Given the description of an element on the screen output the (x, y) to click on. 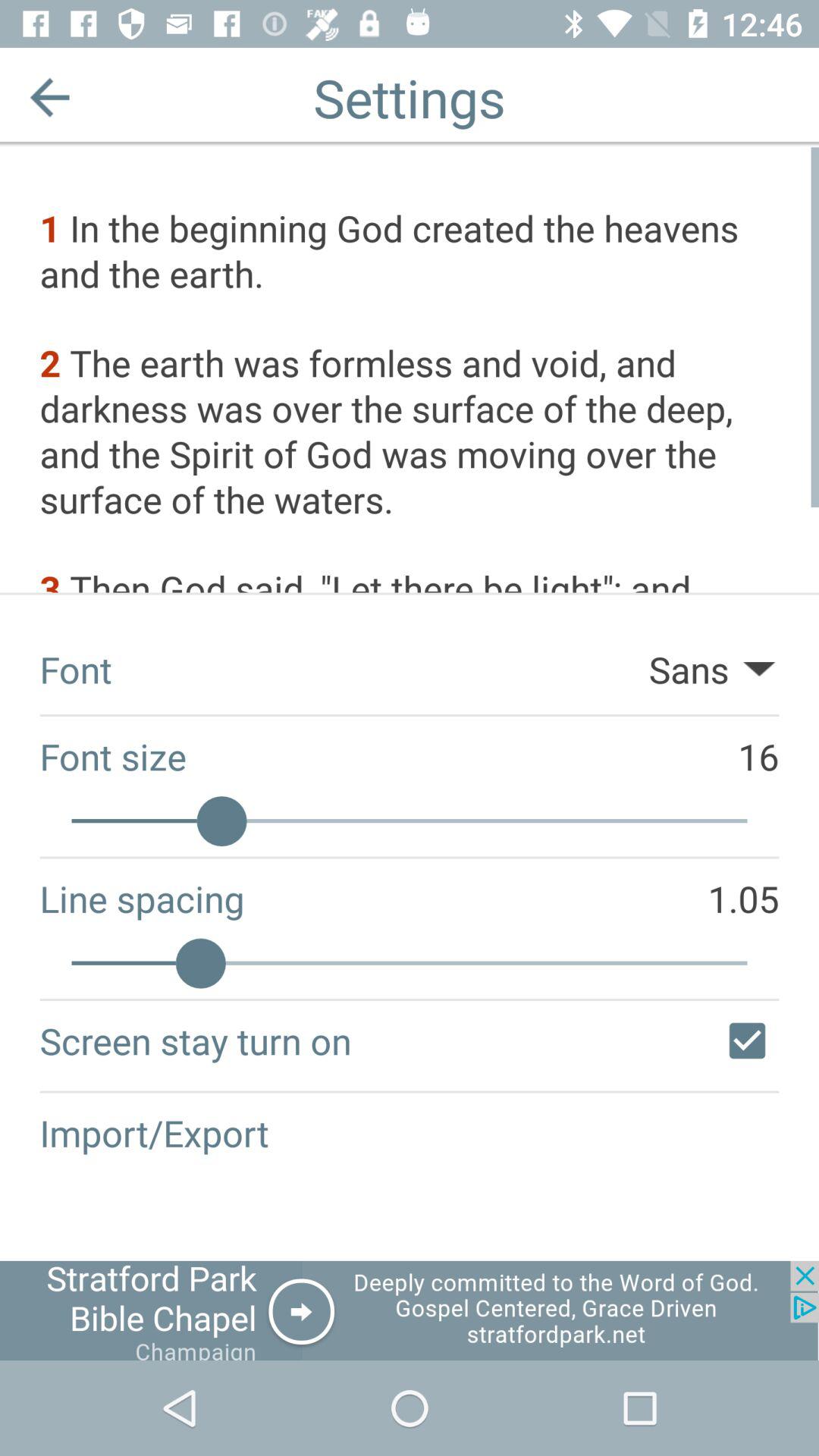
advertise banner (409, 1310)
